Given the description of an element on the screen output the (x, y) to click on. 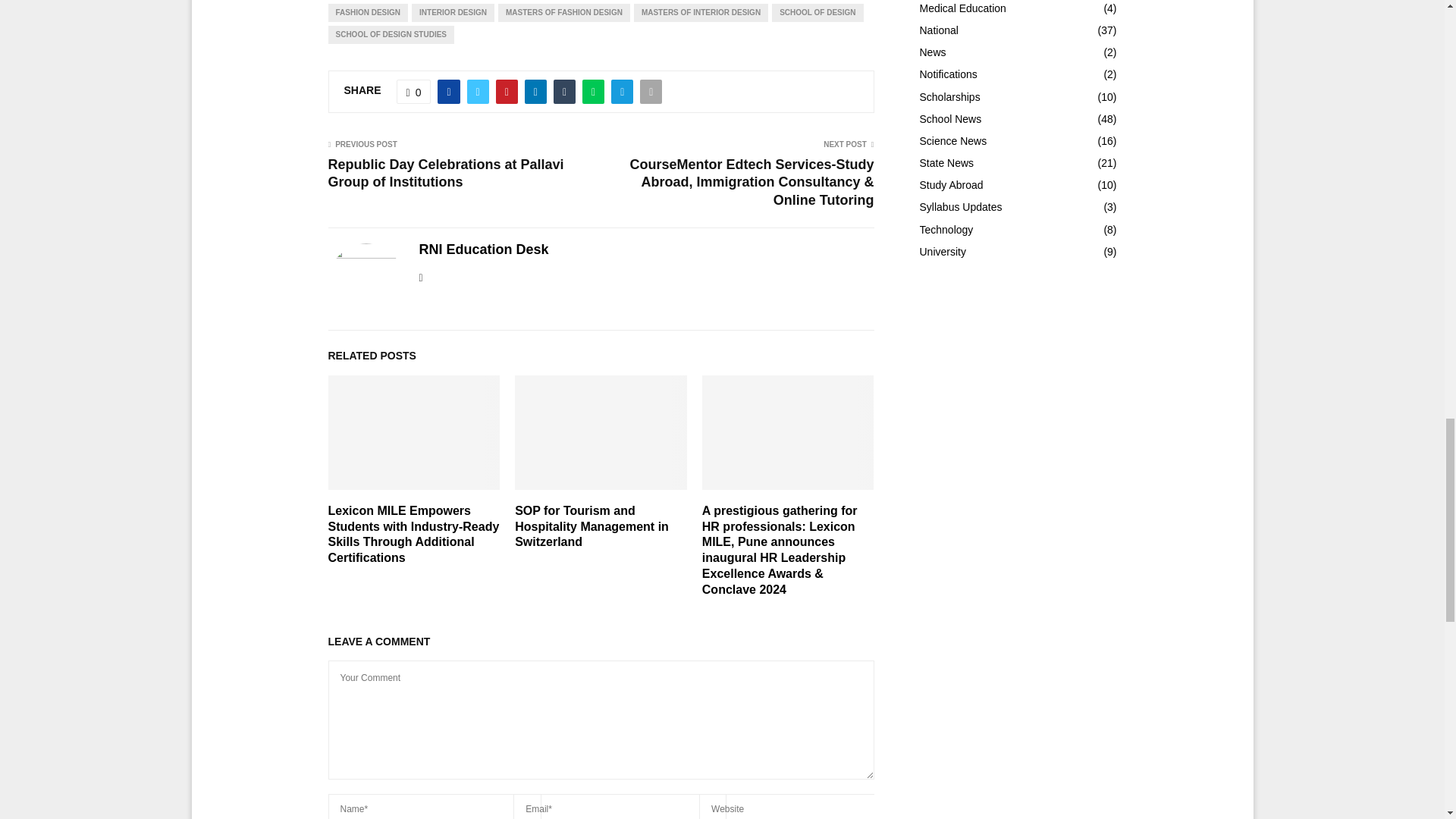
Like (413, 91)
